Given the description of an element on the screen output the (x, y) to click on. 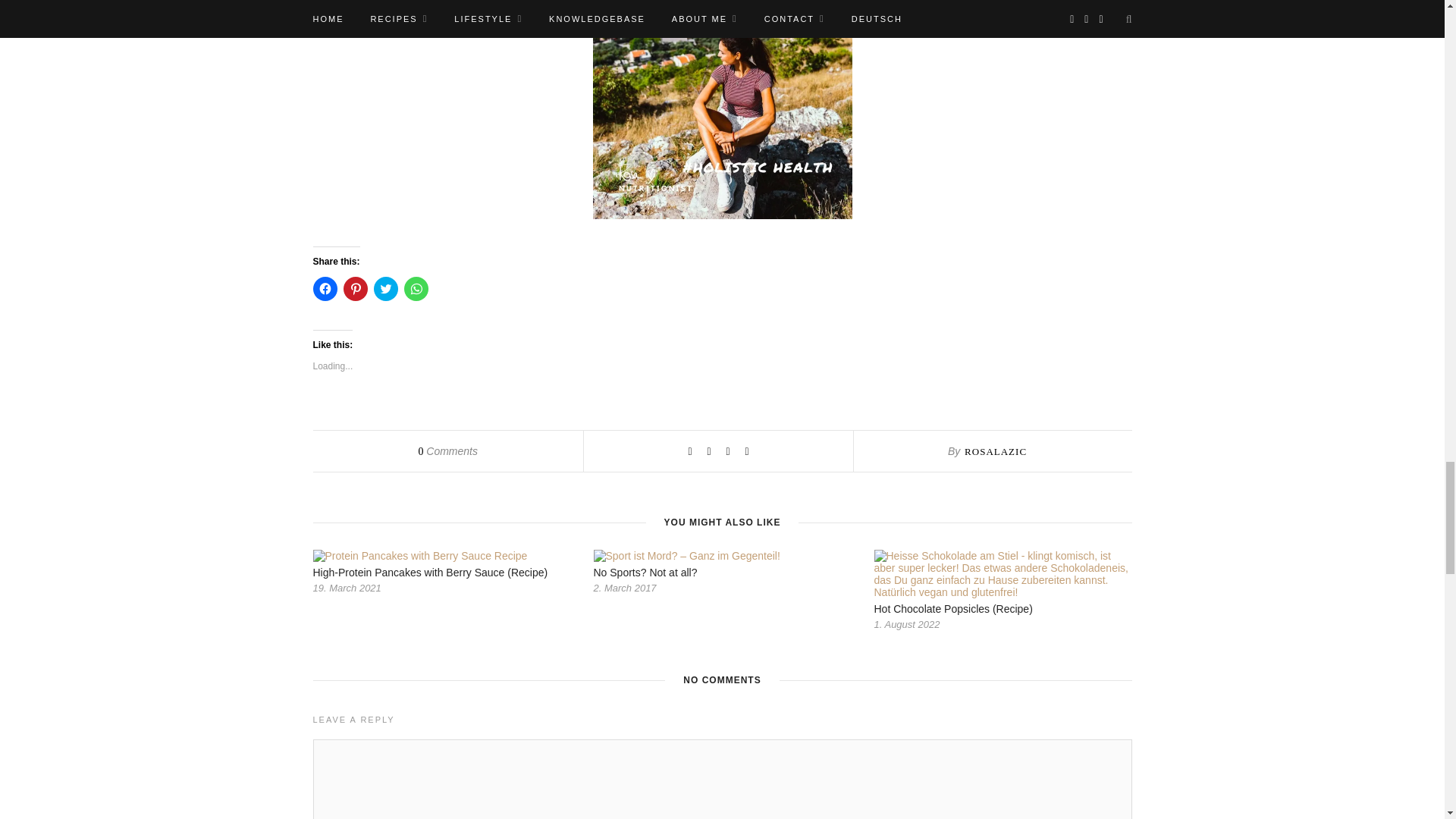
ROSALAZIC (994, 451)
Click to share on WhatsApp (415, 288)
Posts by rosalazic (994, 451)
Click to share on Twitter (384, 288)
0 Comments (447, 451)
Click to share on Facebook (324, 288)
Click to share on Pinterest (354, 288)
